Given the description of an element on the screen output the (x, y) to click on. 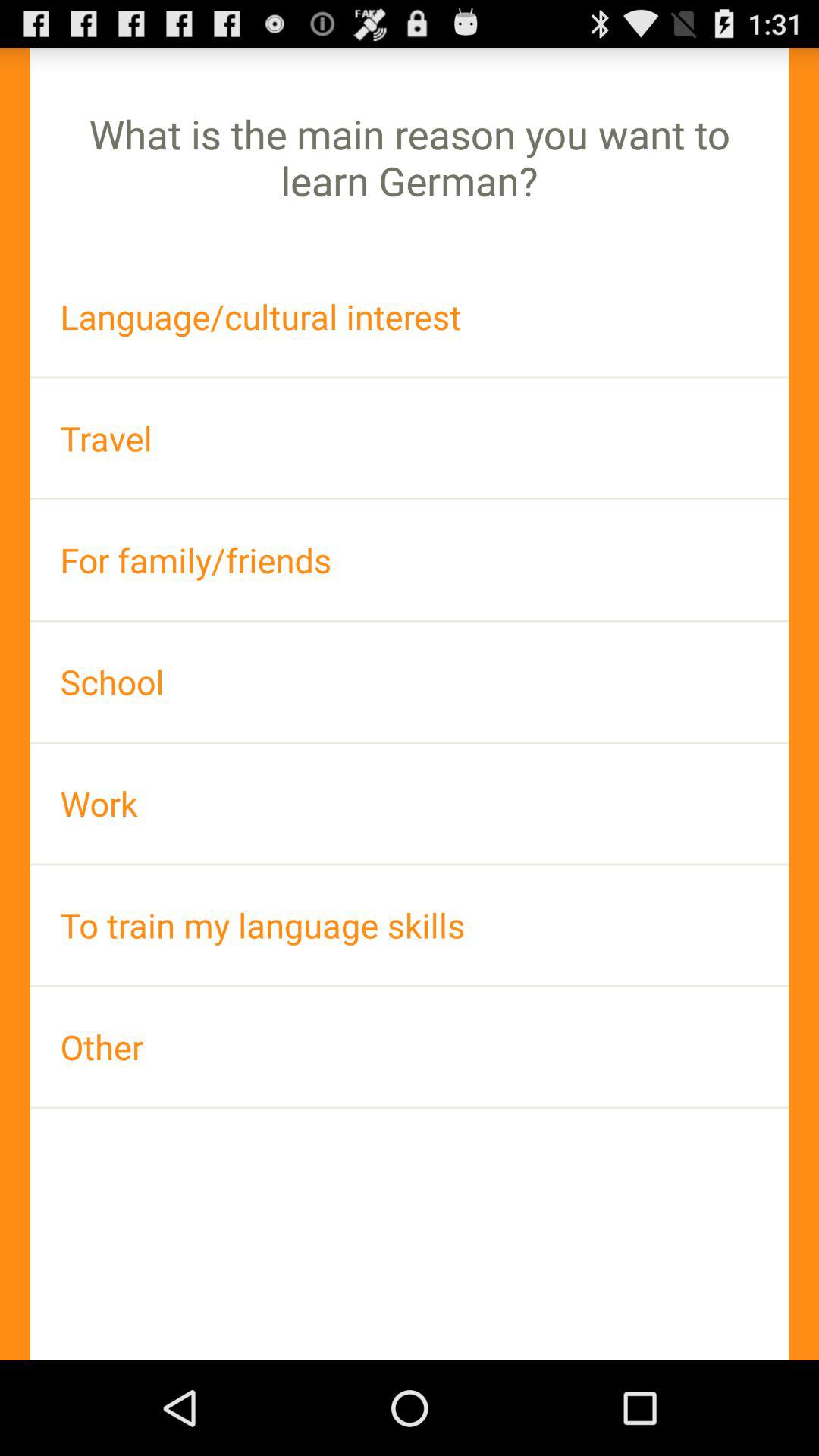
press the to train my item (409, 925)
